Given the description of an element on the screen output the (x, y) to click on. 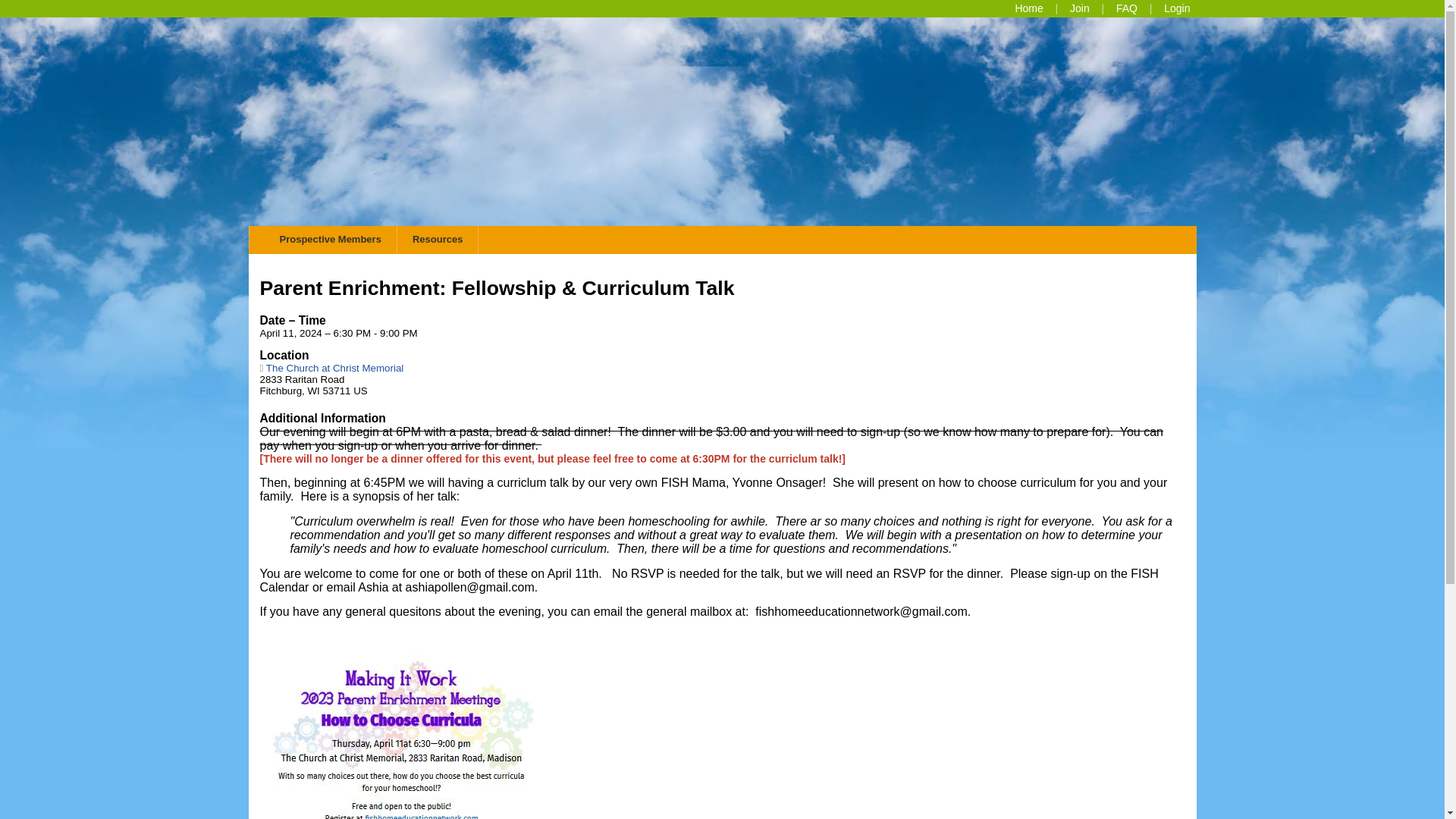
FAQ (1126, 8)
Home (1028, 8)
The Church at Christ Memorial (1176, 8)
Resources (1126, 8)
Request Membership (331, 367)
Login (437, 239)
Prospective Members (1079, 8)
